Given the description of an element on the screen output the (x, y) to click on. 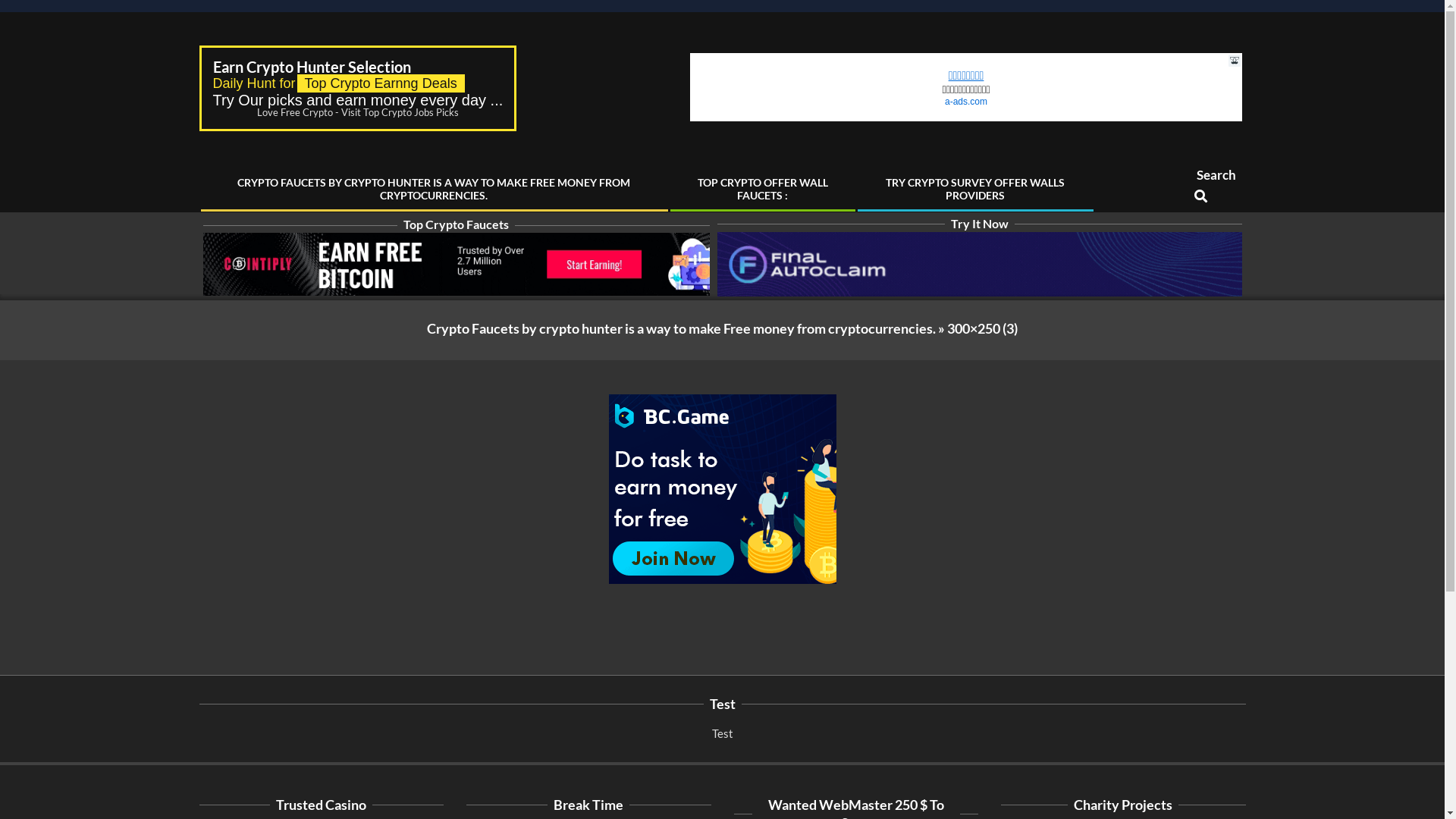
Search Element type: text (20, 8)
Join Cointiply to Earn Free Bitcoin! Element type: hover (456, 263)
TRY CRYPTO SURVEY OFFER WALLS PROVIDERS Element type: text (975, 188)
TOP CRYPTO OFFER WALL FAUCETS : Element type: text (761, 188)
